Given the description of an element on the screen output the (x, y) to click on. 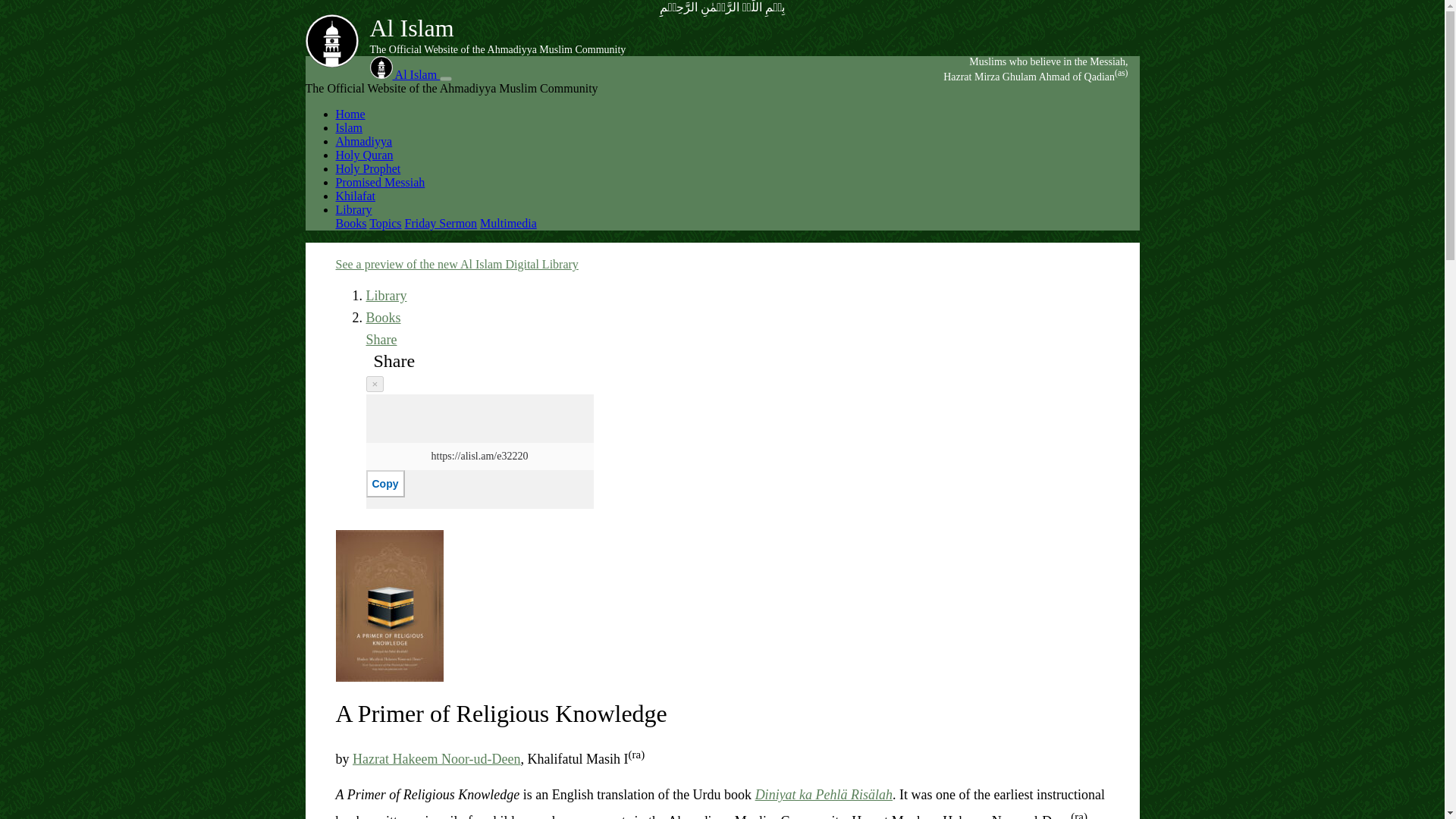
Al Islam (405, 74)
Friday Sermon (440, 223)
Topics (385, 223)
Share (380, 339)
Books (382, 317)
Copy (384, 483)
Books (350, 223)
Khilafat (354, 195)
Islam (348, 127)
Holy Quran (363, 154)
